Given the description of an element on the screen output the (x, y) to click on. 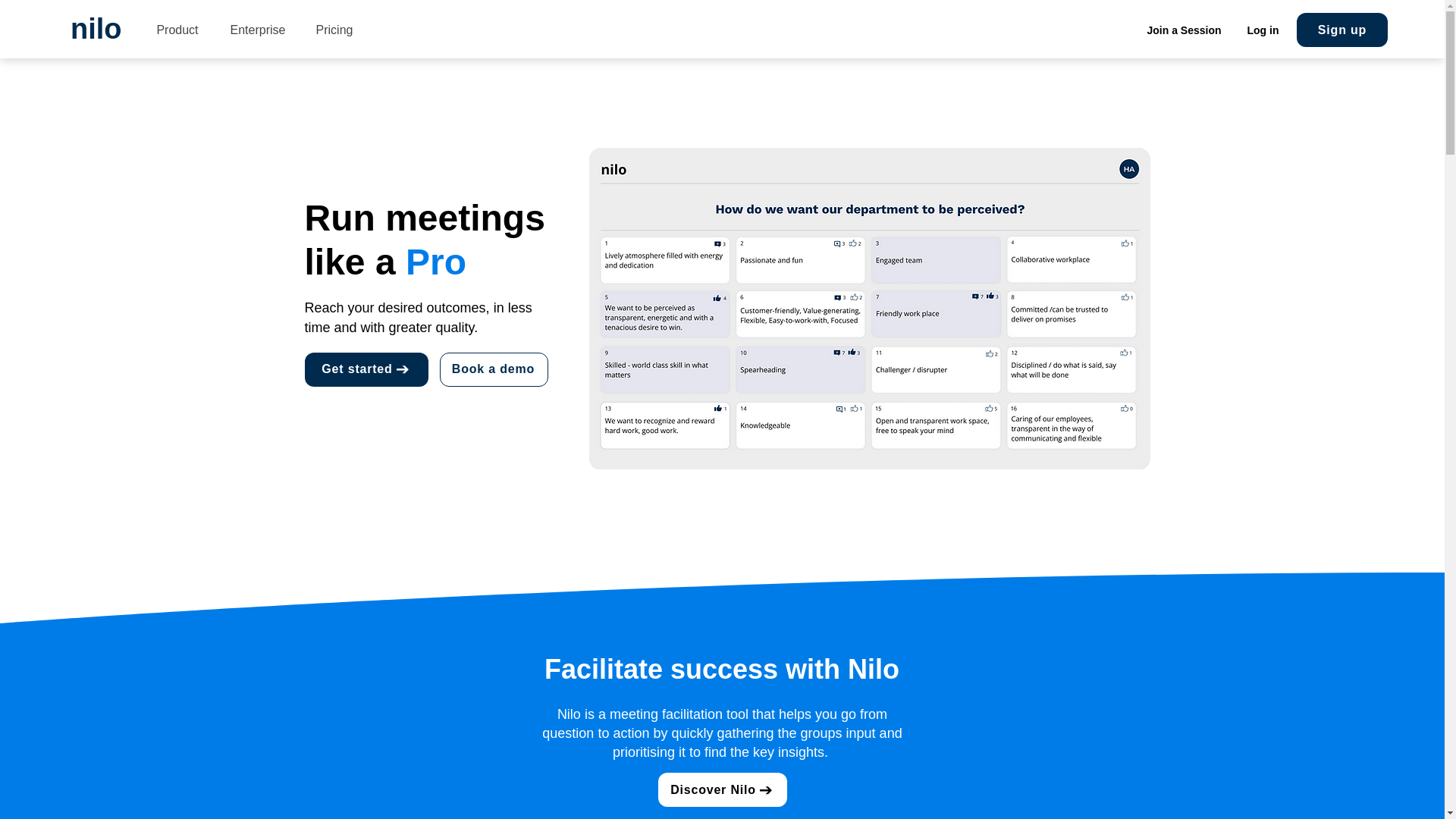
Sign up (1342, 29)
Book a demo (493, 369)
Join a Session (1184, 30)
Log in (1262, 30)
Get started (366, 369)
Discover Nilo (722, 789)
Pricing (333, 30)
Enterprise (257, 30)
nilo (95, 29)
Product (177, 30)
